Given the description of an element on the screen output the (x, y) to click on. 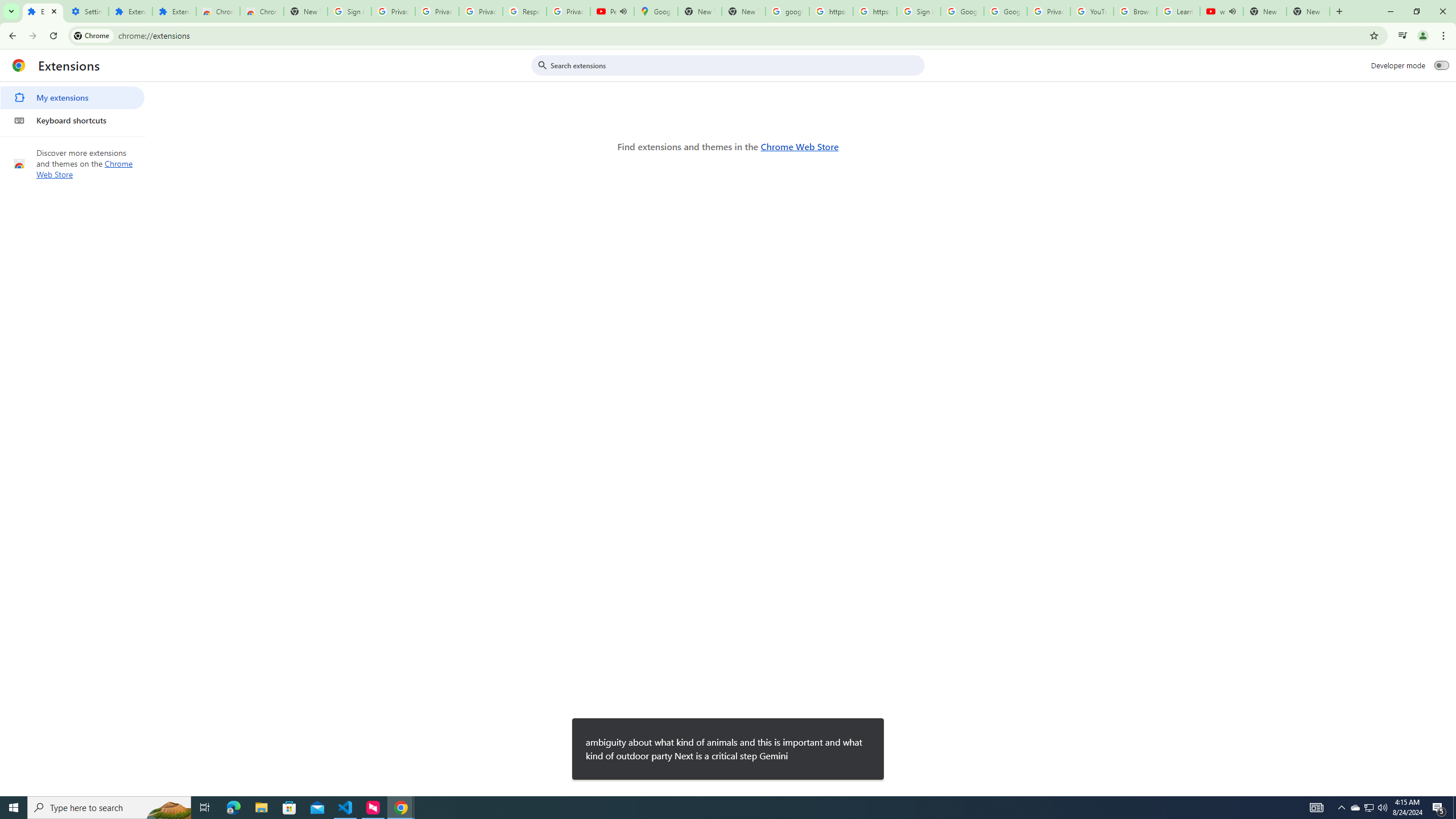
Google Maps (655, 11)
Sign in - Google Accounts (918, 11)
Browse Chrome as a guest - Computer - Google Chrome Help (1134, 11)
Extensions (42, 11)
Search extensions (735, 65)
https://scholar.google.com/ (874, 11)
